Given the description of an element on the screen output the (x, y) to click on. 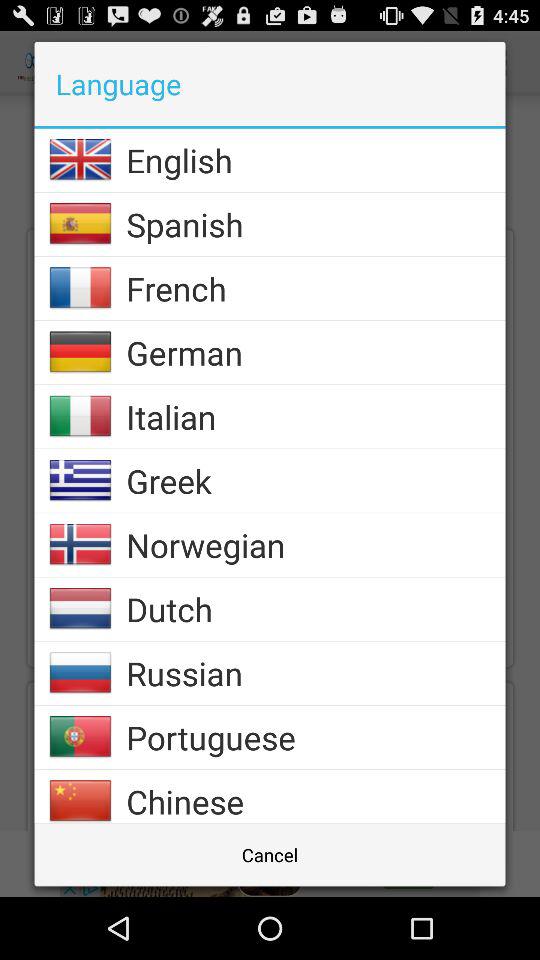
tap chinese app (315, 800)
